Given the description of an element on the screen output the (x, y) to click on. 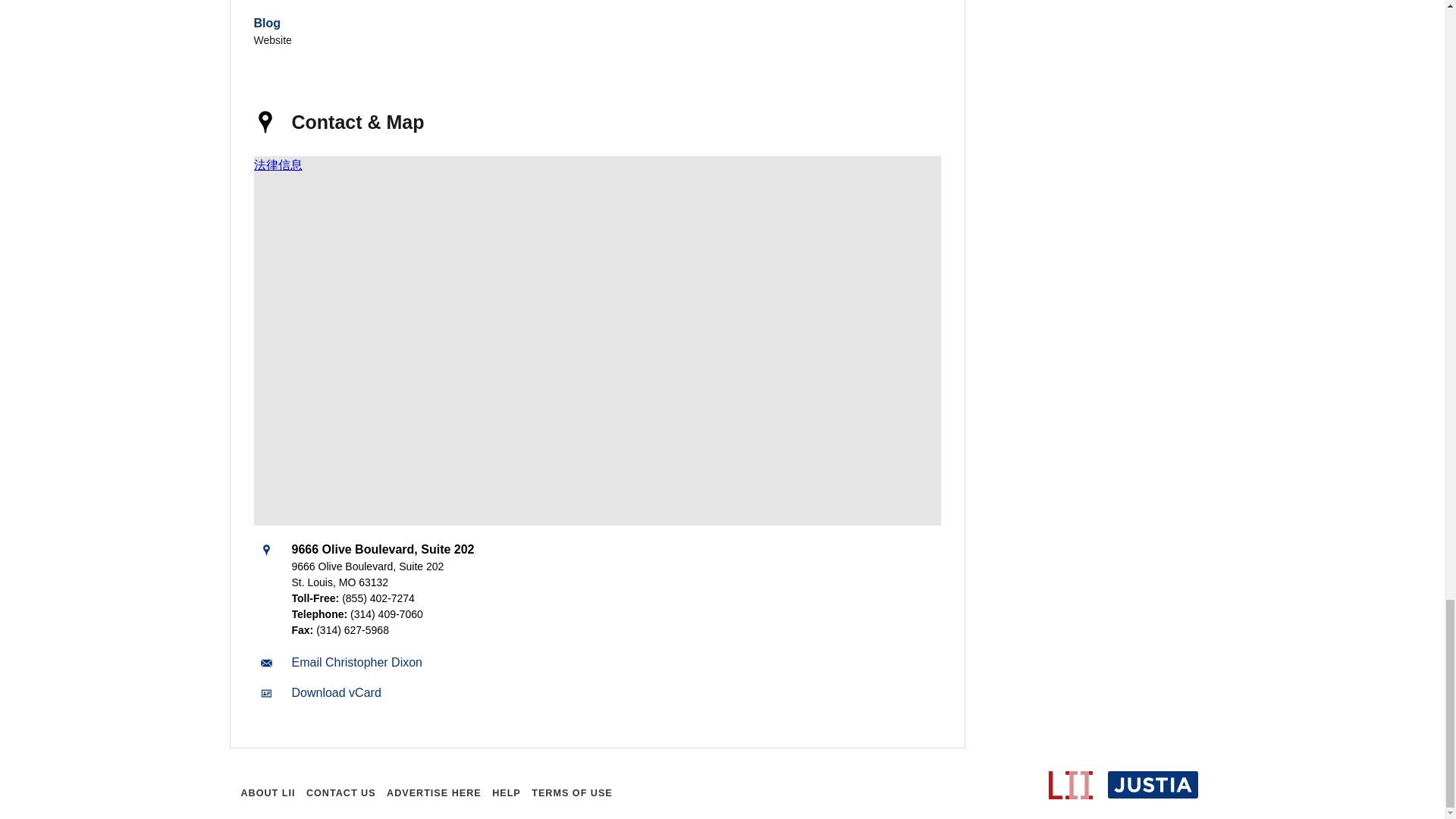
Blog (267, 22)
Email Christopher Dixon (356, 662)
Download vCard (335, 692)
